Given the description of an element on the screen output the (x, y) to click on. 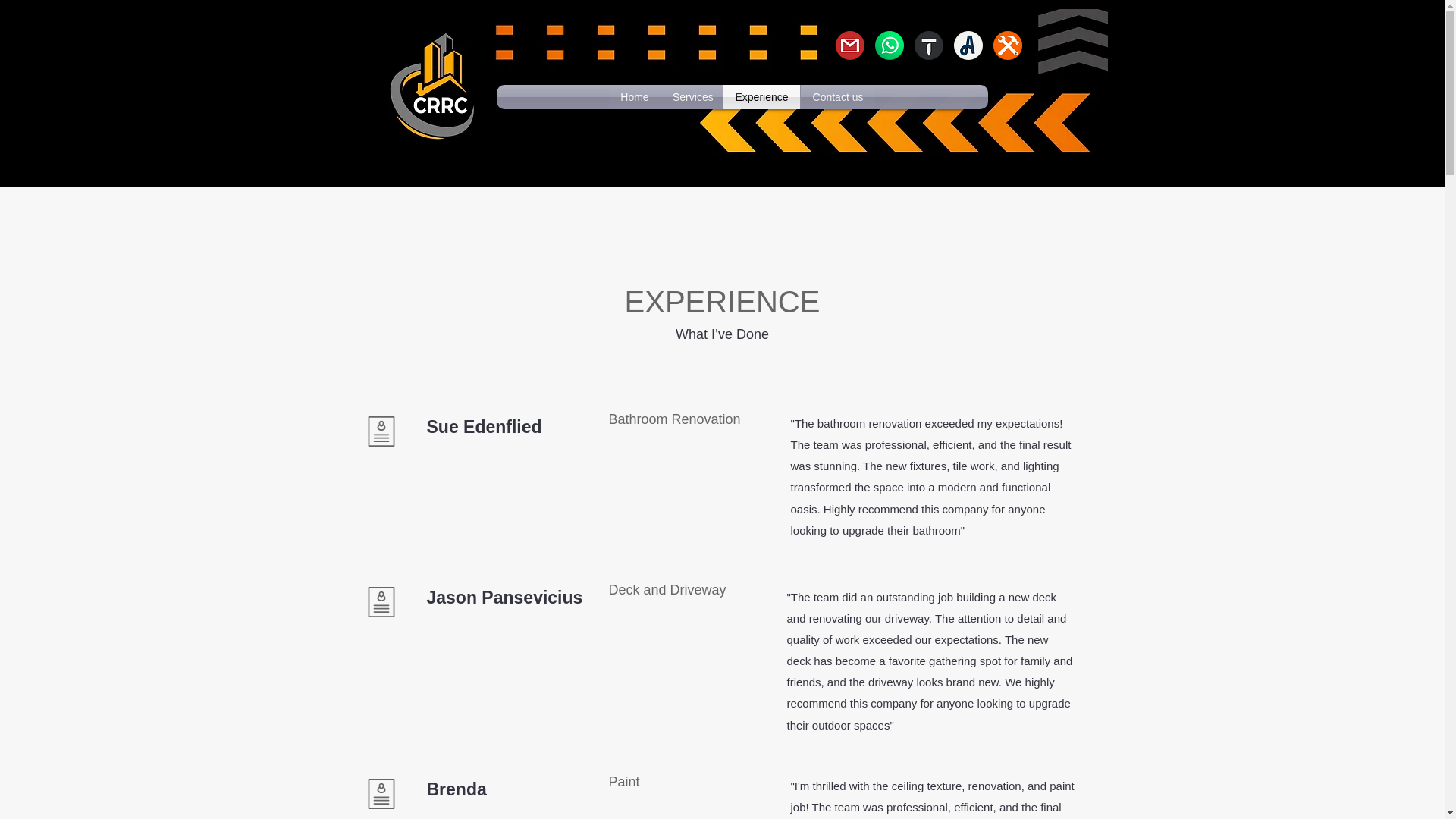
Experience (761, 96)
Services (691, 96)
Home (634, 96)
Contact us (837, 96)
